Given the description of an element on the screen output the (x, y) to click on. 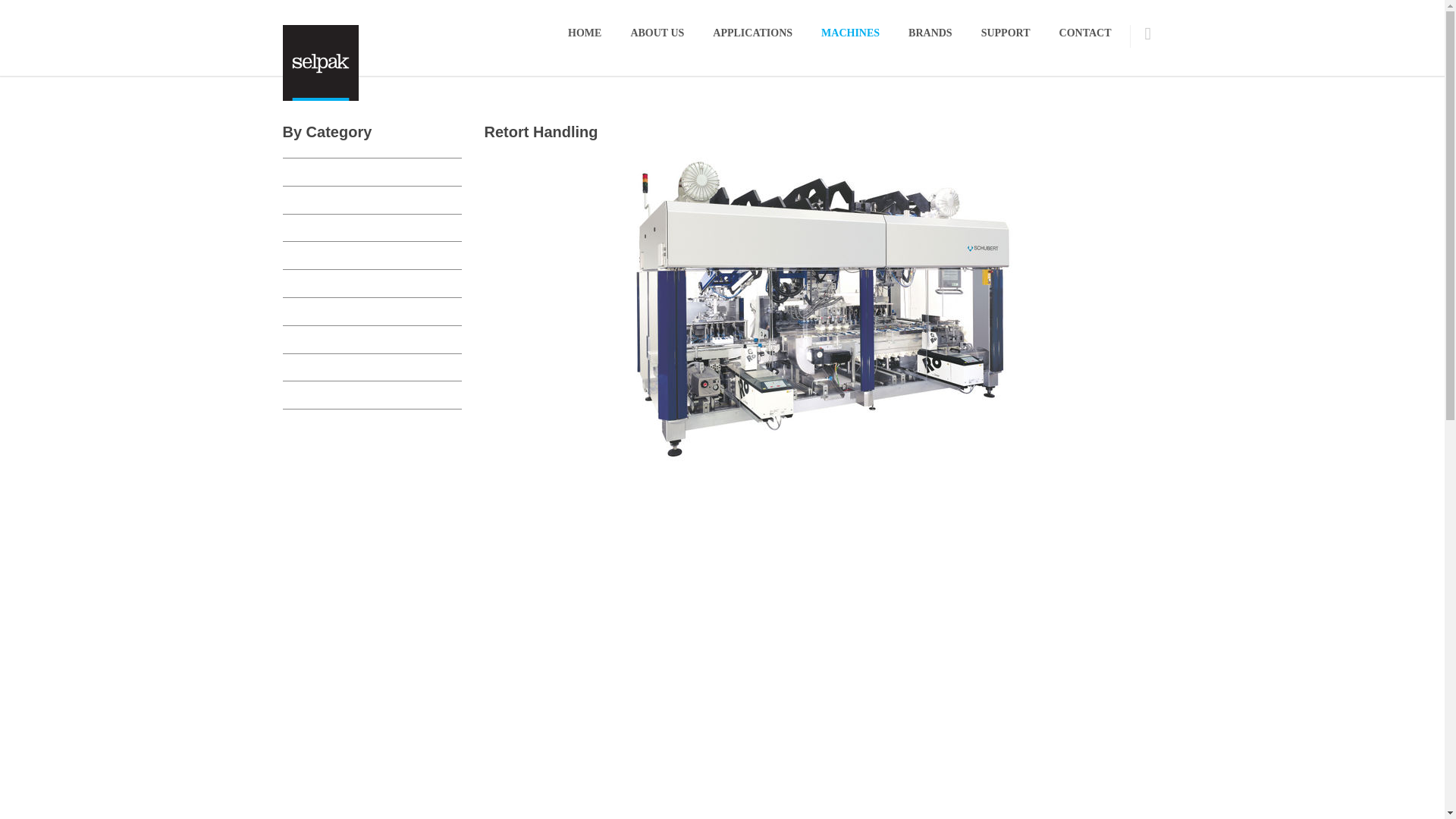
SUPPORT (1005, 33)
CONTACT (1085, 33)
HOME (584, 33)
APPLICATIONS (752, 33)
BRANDS (929, 33)
ABOUT US (656, 33)
MACHINES (849, 33)
